Given the description of an element on the screen output the (x, y) to click on. 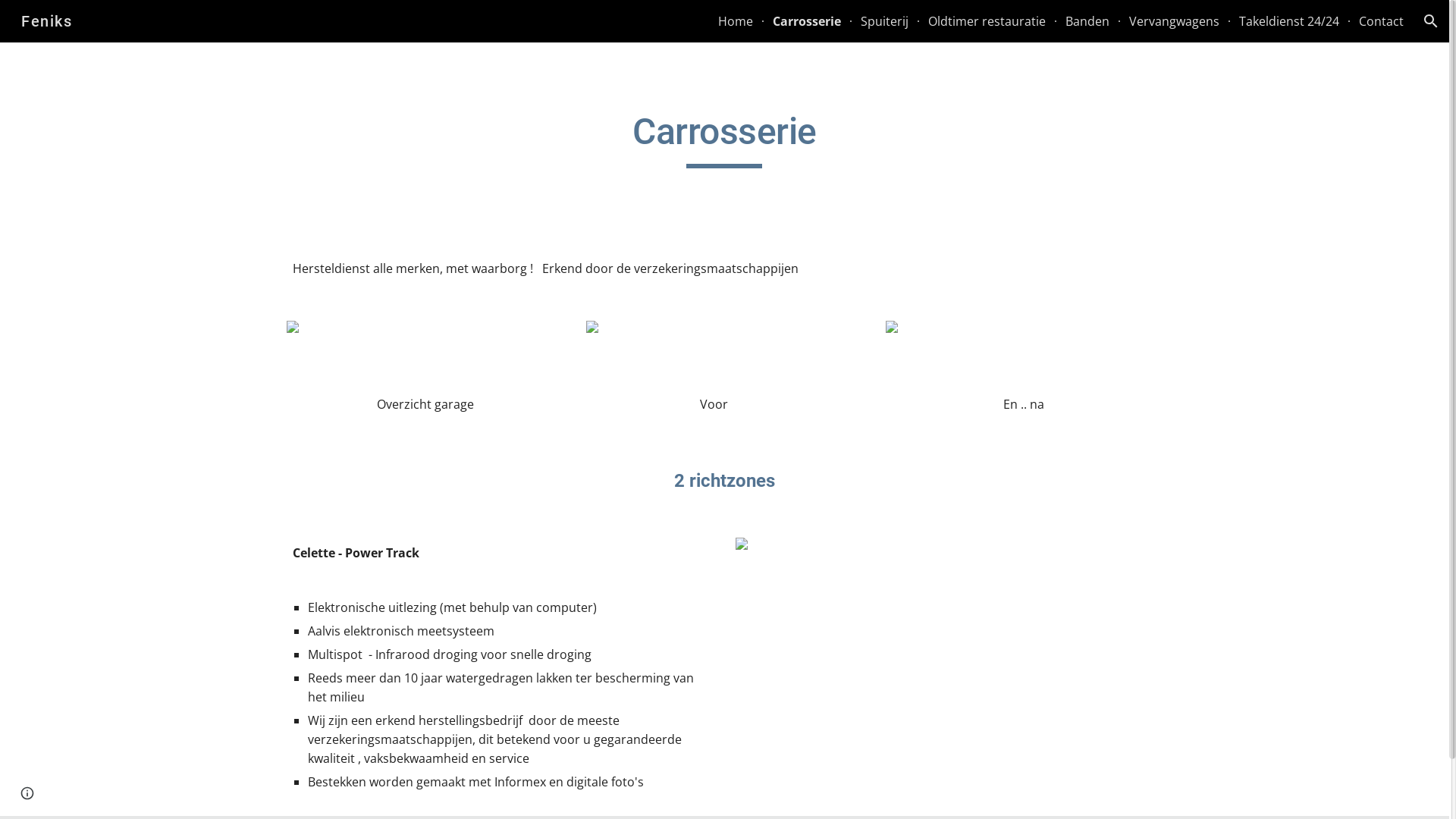
Vervangwagens Element type: text (1174, 20)
Home Element type: text (735, 20)
Takeldienst 24/24 Element type: text (1289, 20)
Banden Element type: text (1087, 20)
Spuiterij Element type: text (884, 20)
Oldtimer restauratie Element type: text (986, 20)
Carrosserie Element type: text (806, 20)
Contact Element type: text (1380, 20)
Feniks Element type: text (46, 19)
